Given the description of an element on the screen output the (x, y) to click on. 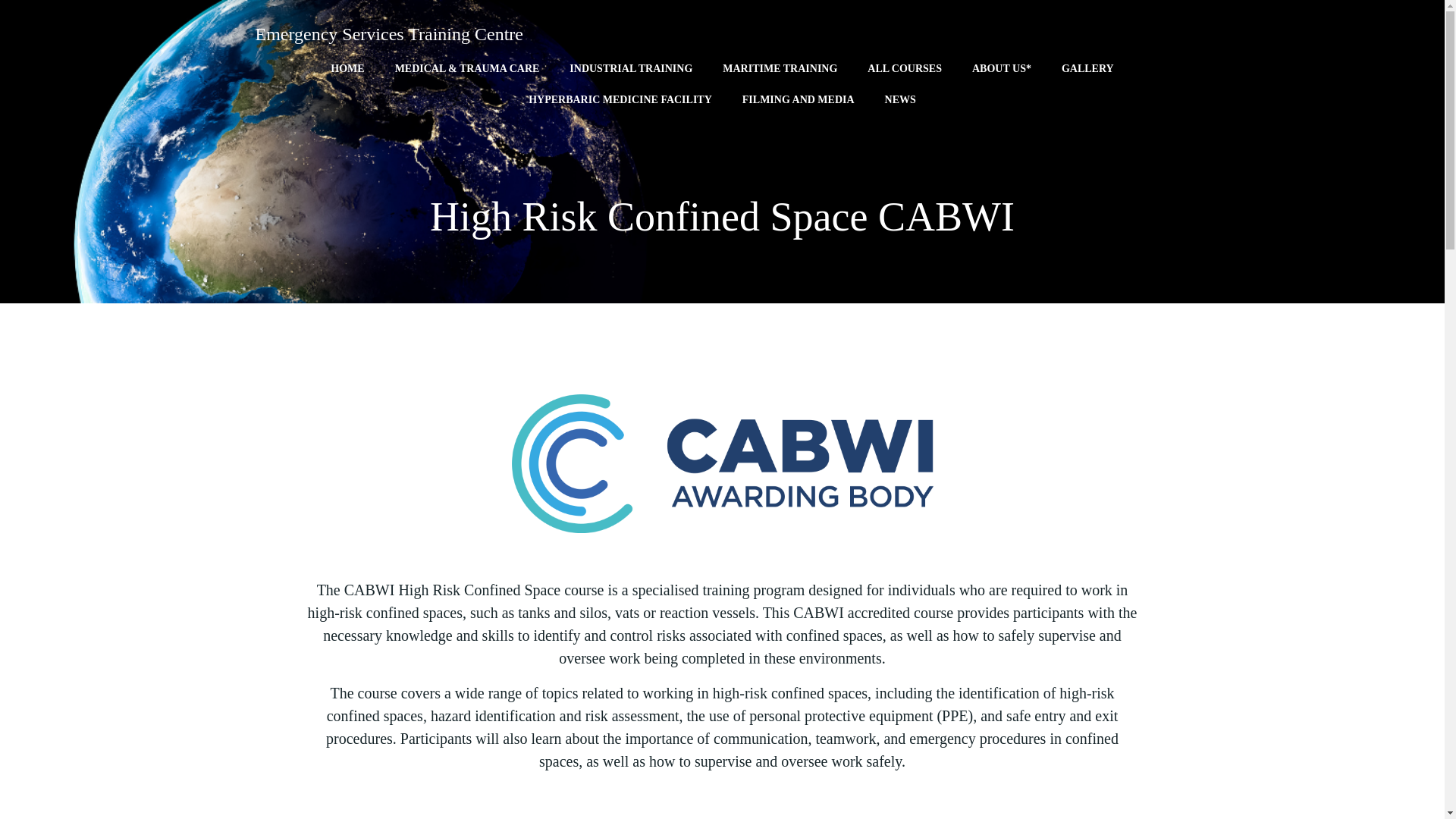
FILMING AND MEDIA (798, 99)
HYPERBARIC MEDICINE FACILITY (619, 99)
GALLERY (1087, 68)
Emergency Services Training Centre (388, 33)
MARITIME TRAINING (779, 68)
NEWS (900, 99)
INDUSTRIAL TRAINING (631, 68)
HOME (347, 68)
ALL COURSES (904, 68)
